Given the description of an element on the screen output the (x, y) to click on. 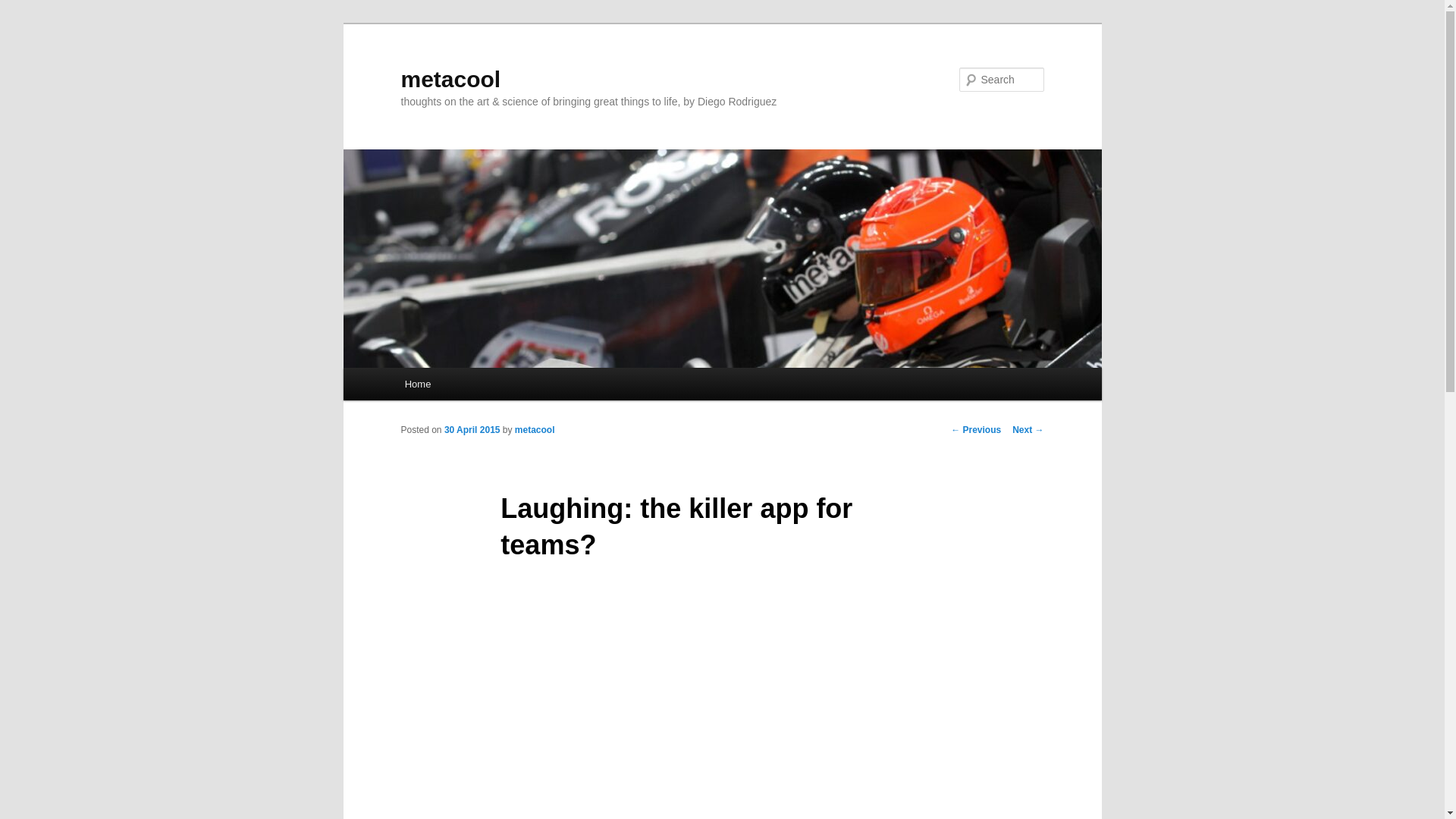
metacool (534, 429)
Search (24, 8)
10:02 pm (472, 429)
30 April 2015 (472, 429)
Home (417, 383)
View all posts by metacool (534, 429)
metacool (450, 78)
